Given the description of an element on the screen output the (x, y) to click on. 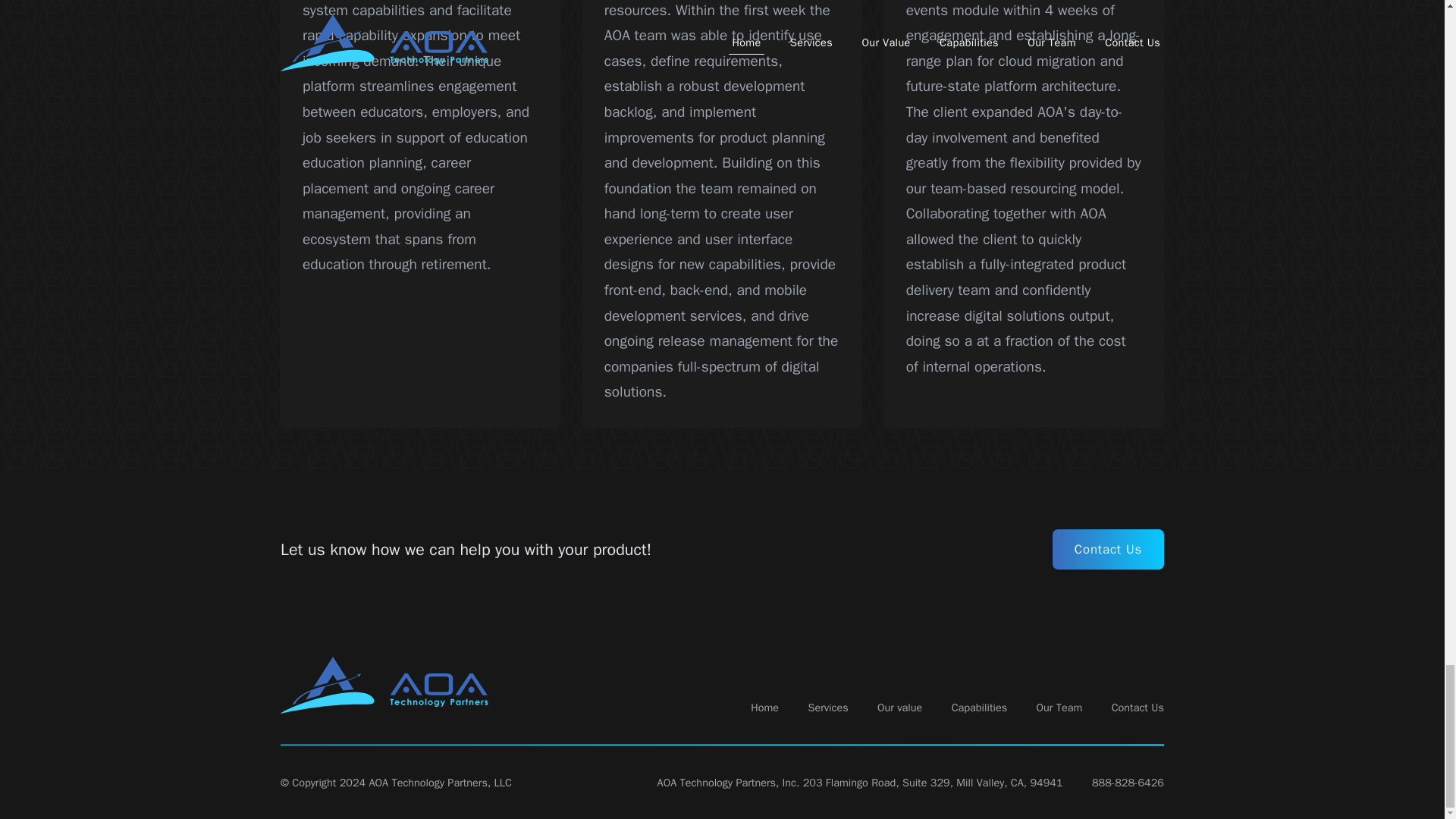
Our Team (1059, 707)
Capabilities (979, 707)
Contact Us (1107, 549)
888-828-6426 (1127, 782)
Our value (899, 707)
Services (827, 707)
Contact Us (1137, 707)
Home (764, 707)
